Given the description of an element on the screen output the (x, y) to click on. 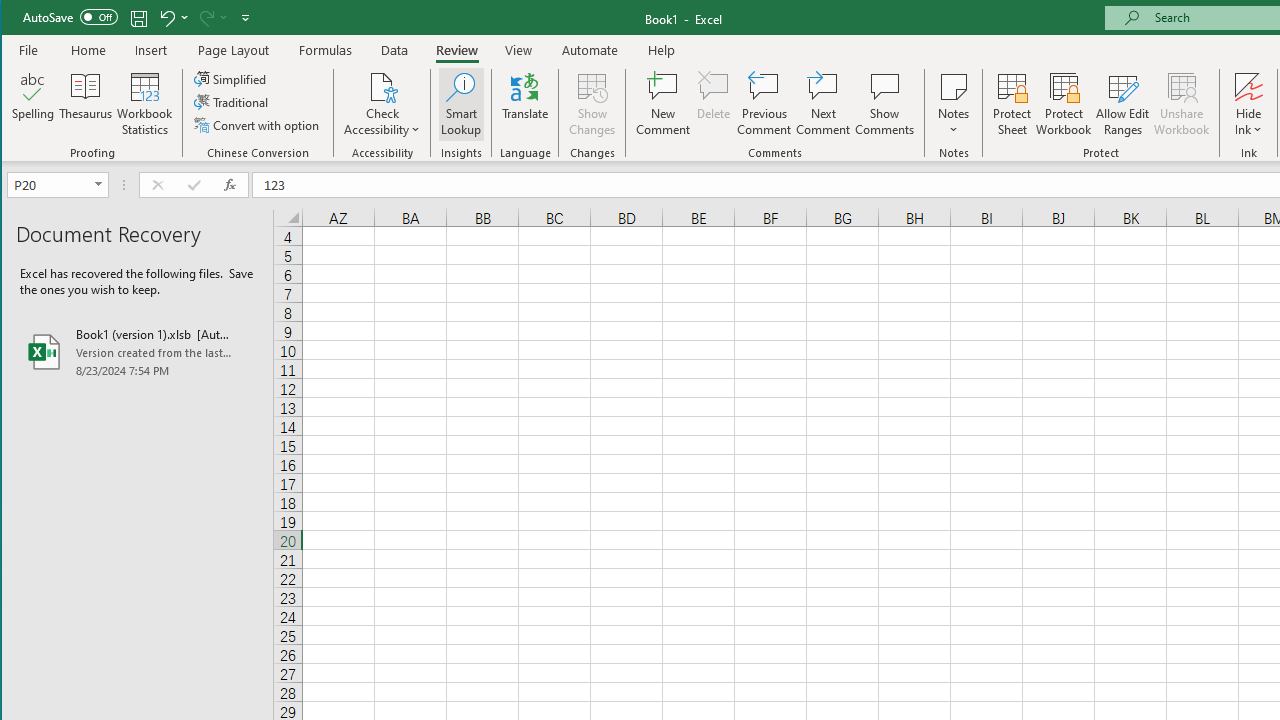
New Comment (662, 104)
Protect Sheet... (1012, 104)
Smart Lookup (461, 104)
Notes (954, 104)
Previous Comment (763, 104)
